Given the description of an element on the screen output the (x, y) to click on. 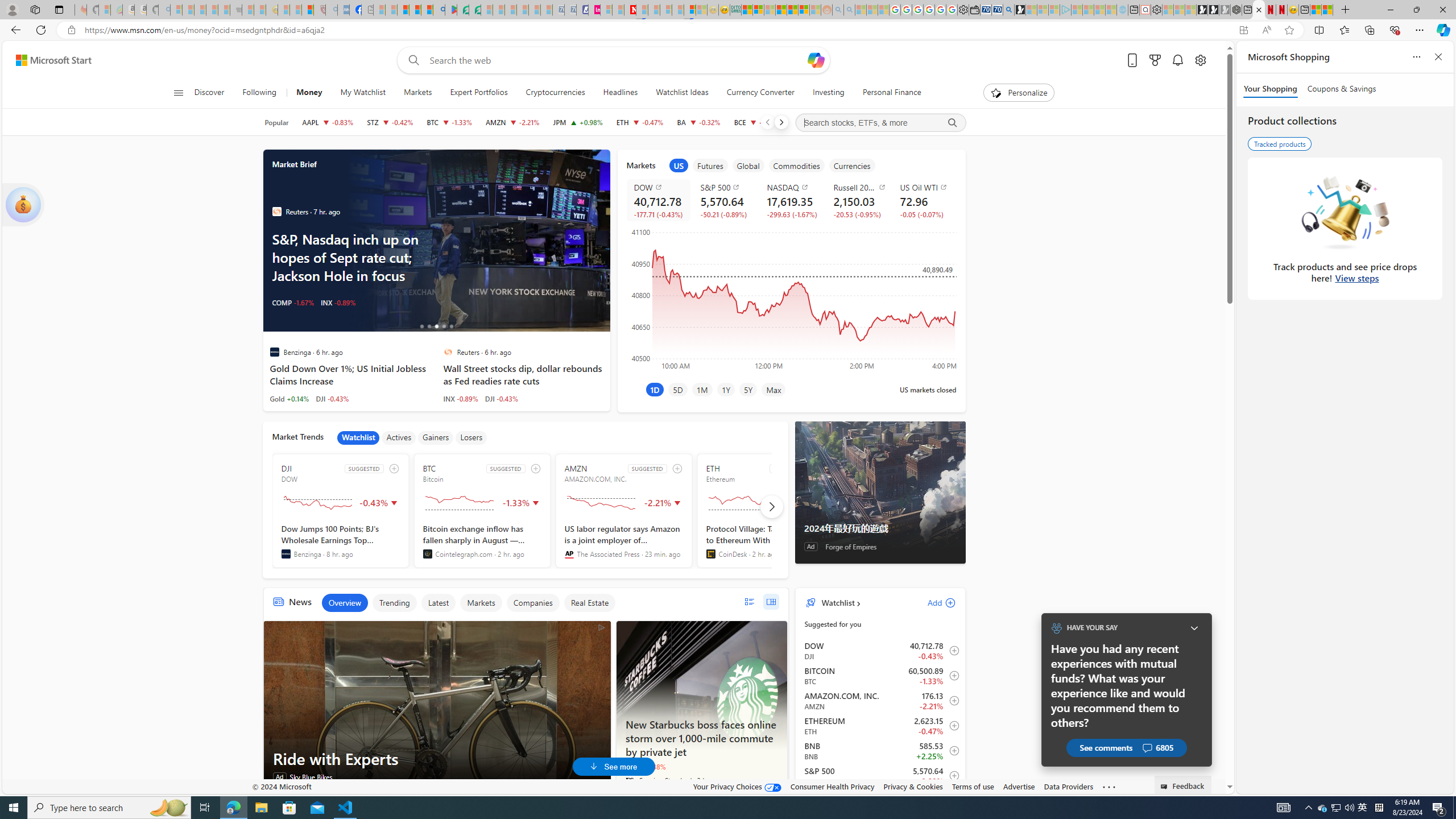
add to watchlist (676, 468)
Consumer Health Privacy (832, 785)
Investing (828, 92)
Currency Converter (760, 92)
Benzinga (286, 553)
DJI -0.43% (501, 397)
